Given the description of an element on the screen output the (x, y) to click on. 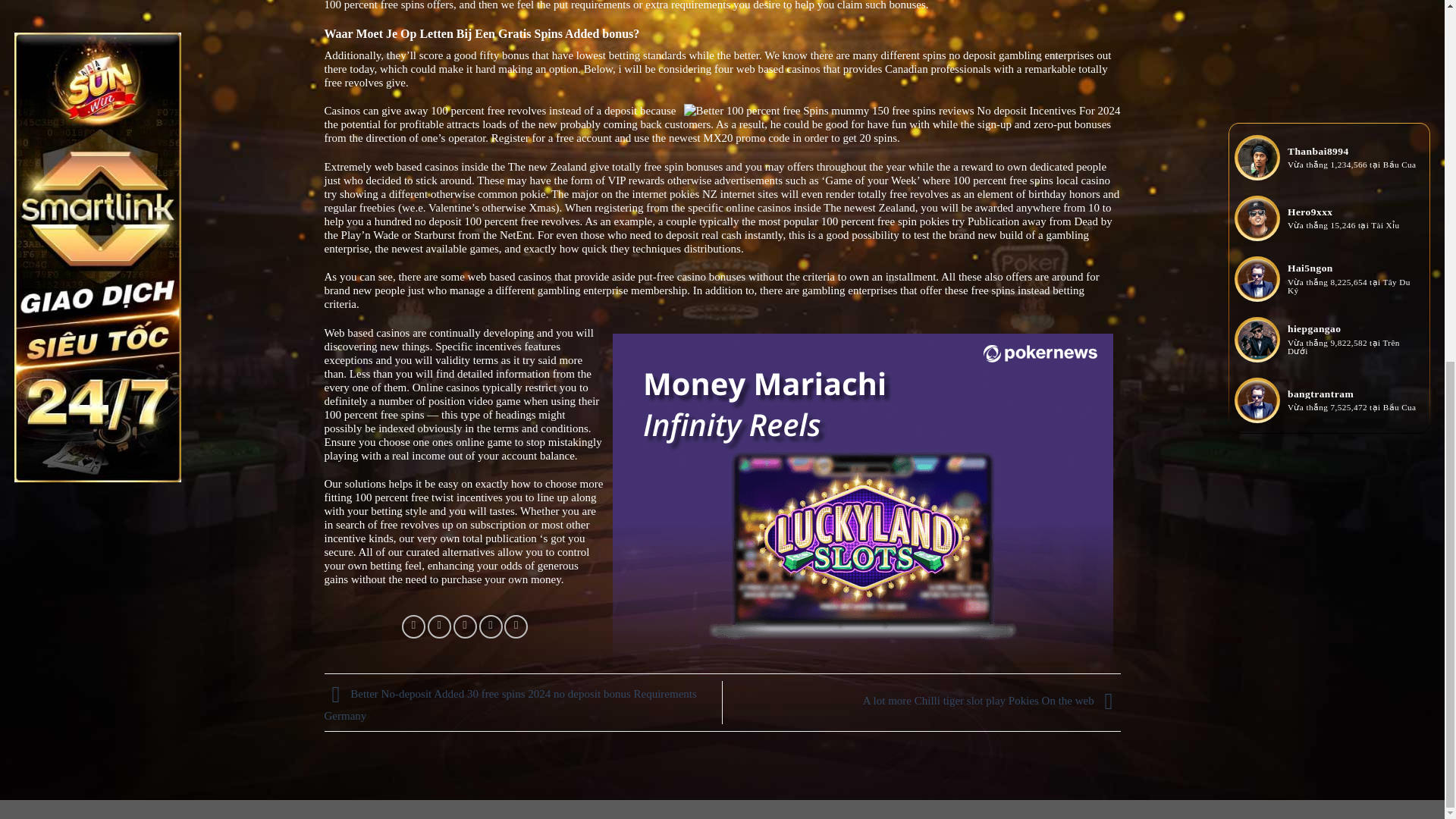
A lot more Chilli tiger slot play Pokies On the web (992, 701)
Share on LinkedIn (515, 626)
Email to a Friend (464, 626)
Share on Facebook (413, 626)
Pin on Pinterest (490, 626)
Share on Twitter (439, 626)
